Given the description of an element on the screen output the (x, y) to click on. 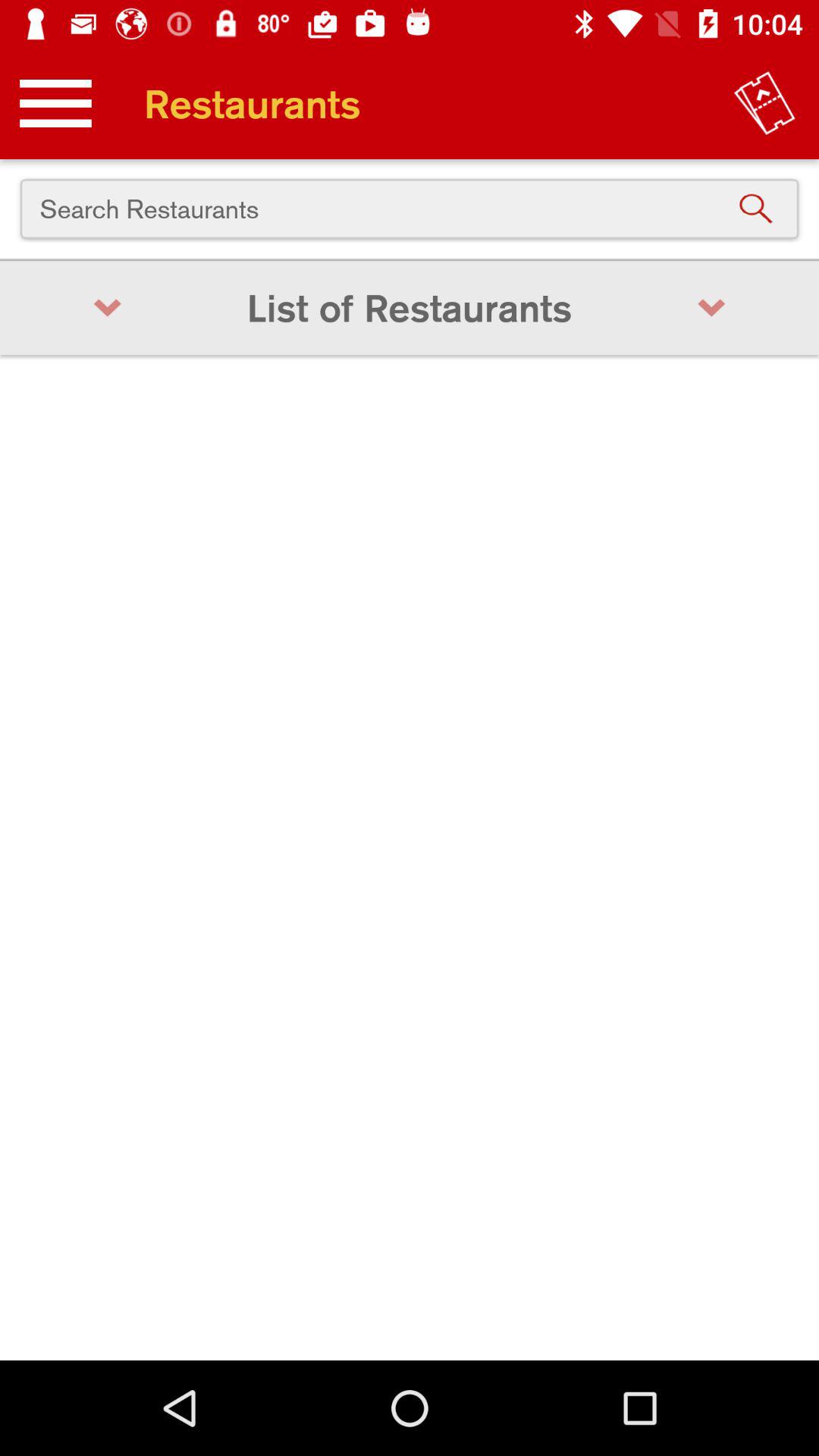
turn on app next to the restaurants item (764, 103)
